Given the description of an element on the screen output the (x, y) to click on. 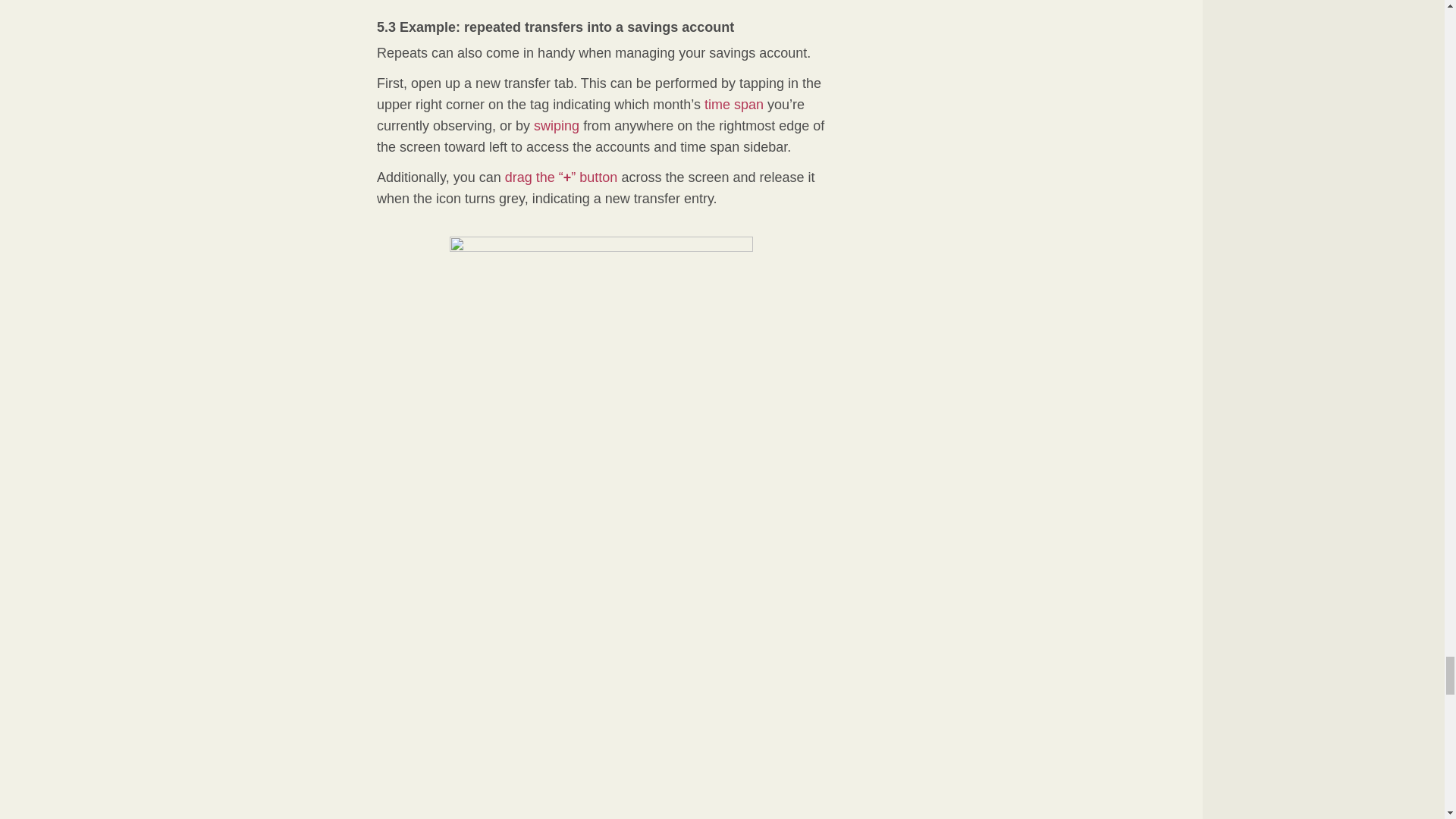
swiping (556, 125)
time span (733, 104)
